Given the description of an element on the screen output the (x, y) to click on. 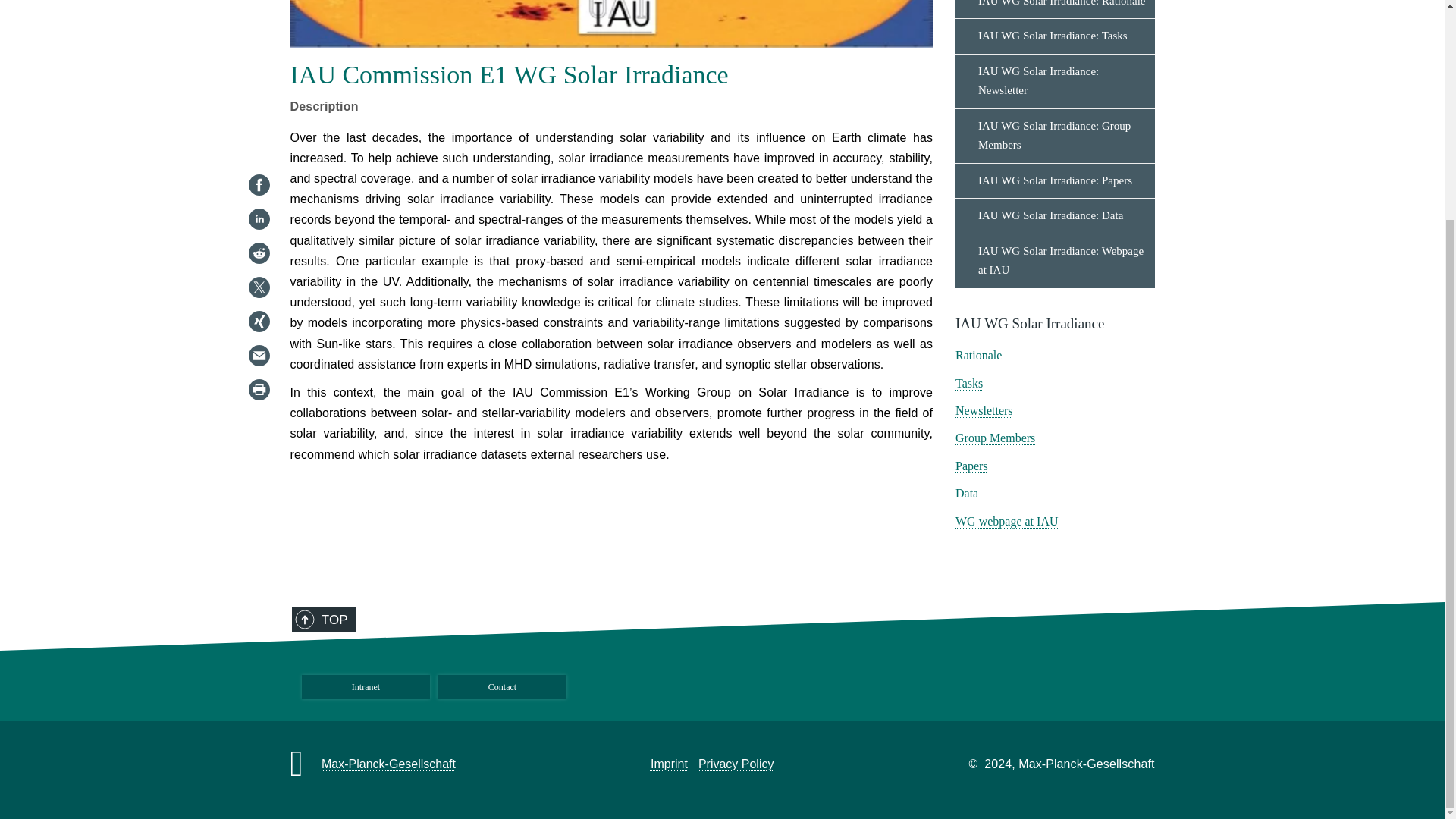
Twitter (258, 4)
Xing (258, 30)
E-Mail (258, 65)
IAU Commission E1 WG Solar Irradiance (611, 23)
Print (258, 98)
